Given the description of an element on the screen output the (x, y) to click on. 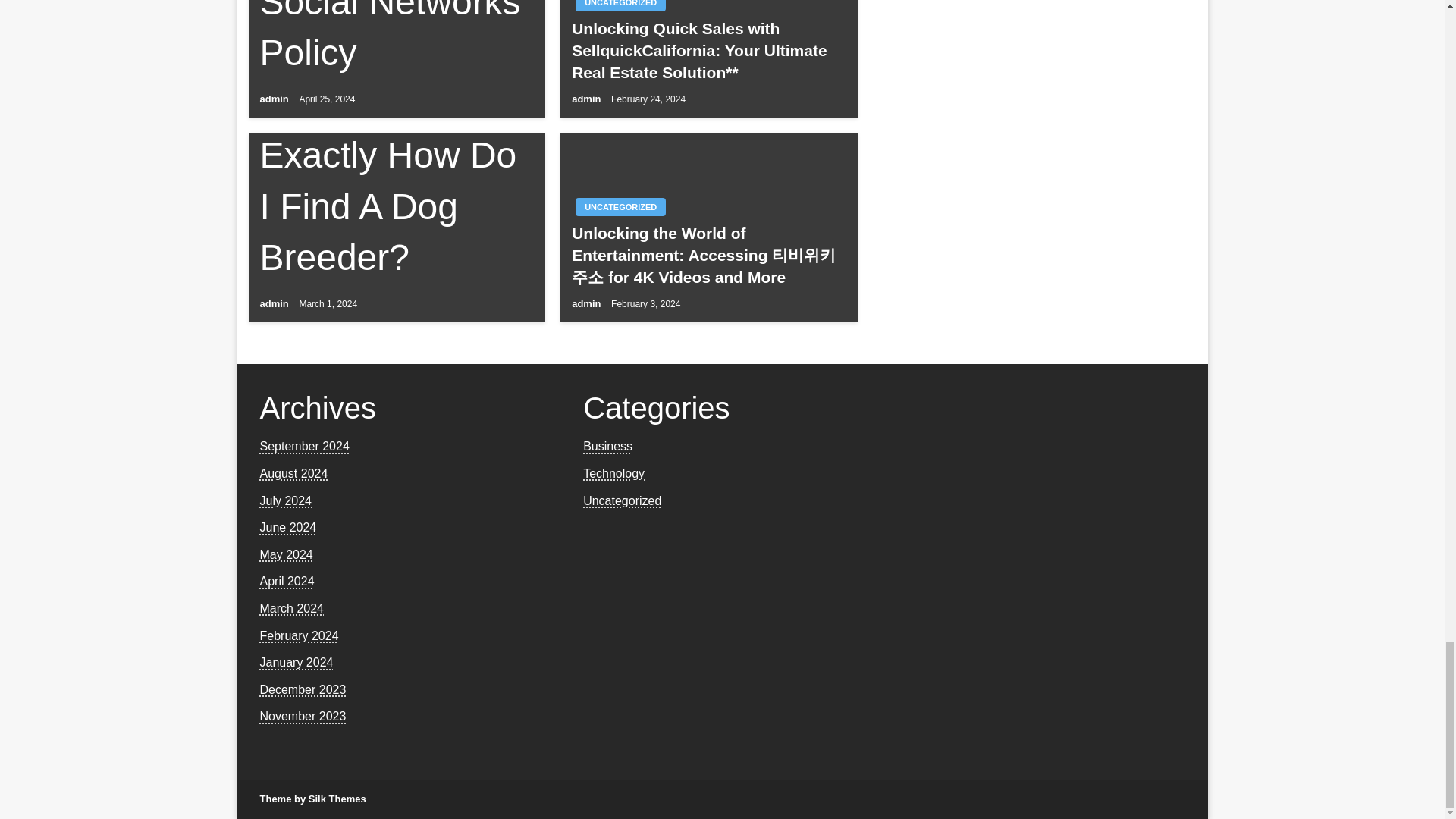
admin (588, 303)
admin (275, 98)
admin (275, 303)
admin (588, 98)
UNCATEGORIZED (620, 5)
American Kennel Club Exactly How Do I Find A Dog Breeder? (396, 154)
UNCATEGORIZED (620, 207)
Social Networks Policy (396, 38)
